Given the description of an element on the screen output the (x, y) to click on. 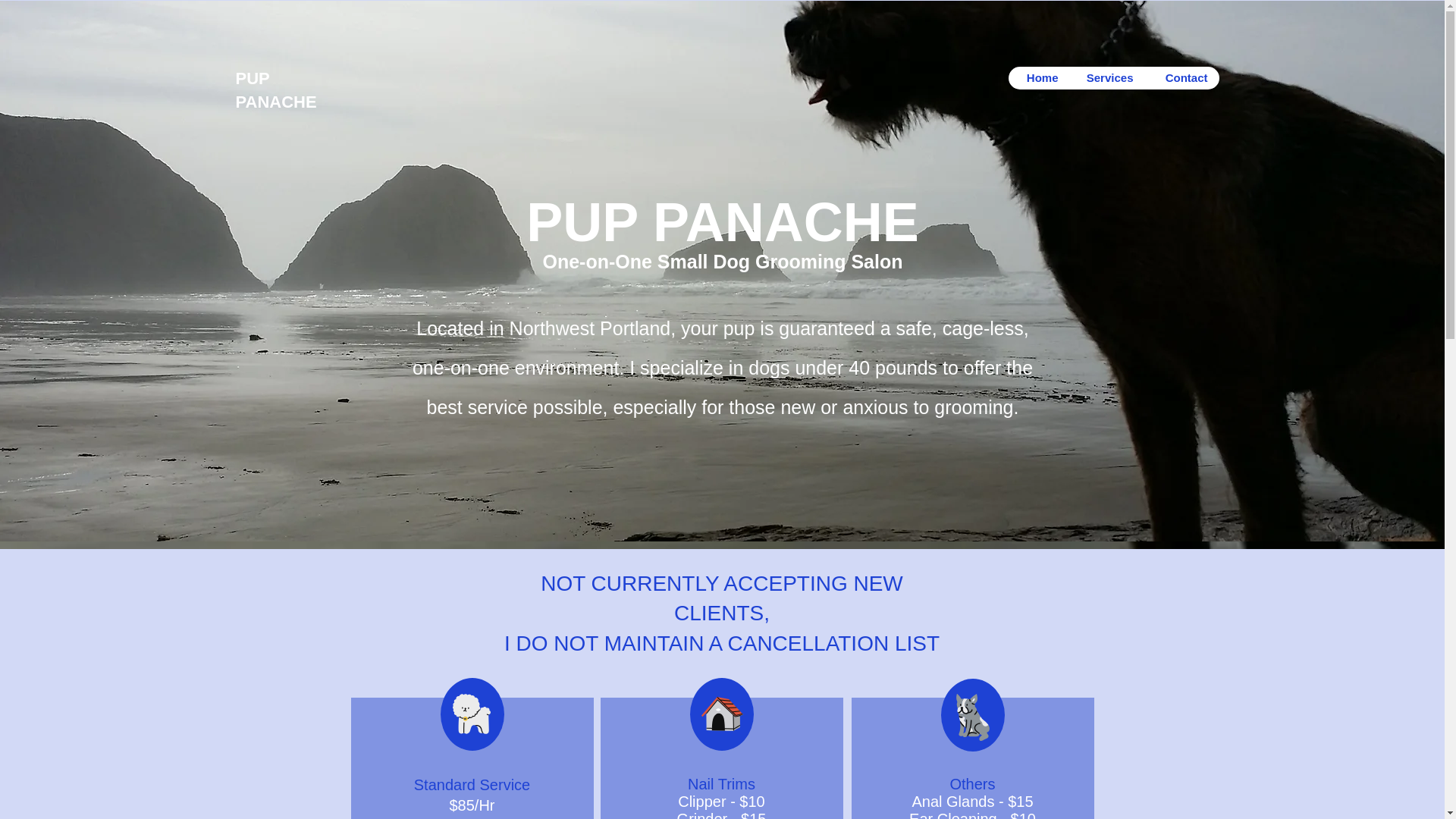
PUP PANACHE (274, 89)
Contact (1182, 77)
Home (1039, 77)
Services (1106, 77)
